Given the description of an element on the screen output the (x, y) to click on. 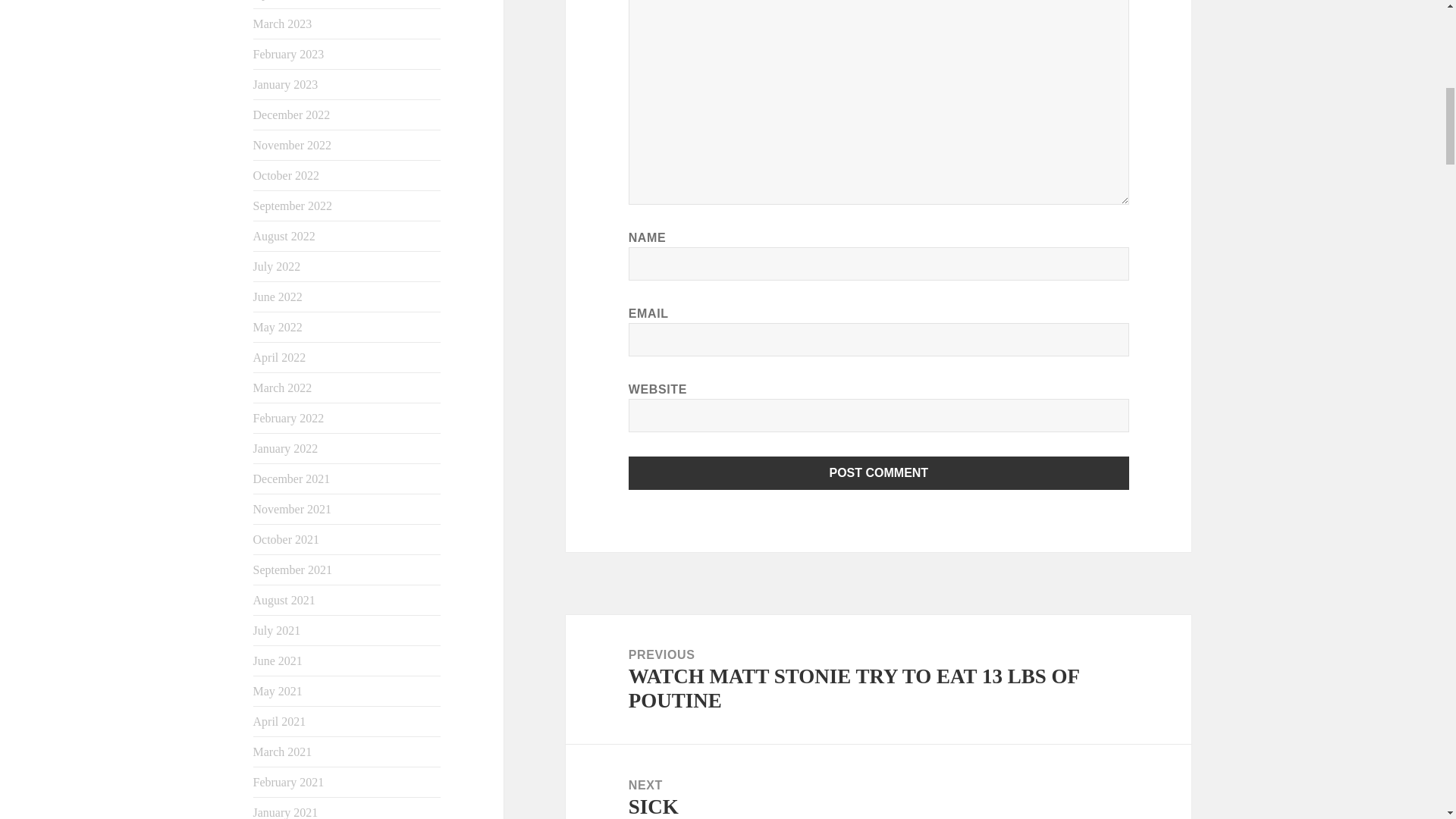
September 2022 (292, 205)
March 2022 (283, 387)
November 2022 (292, 144)
Post Comment (878, 472)
January 2022 (285, 448)
November 2021 (292, 508)
August 2022 (284, 236)
July 2022 (277, 266)
February 2023 (288, 53)
December 2021 (291, 478)
